Given the description of an element on the screen output the (x, y) to click on. 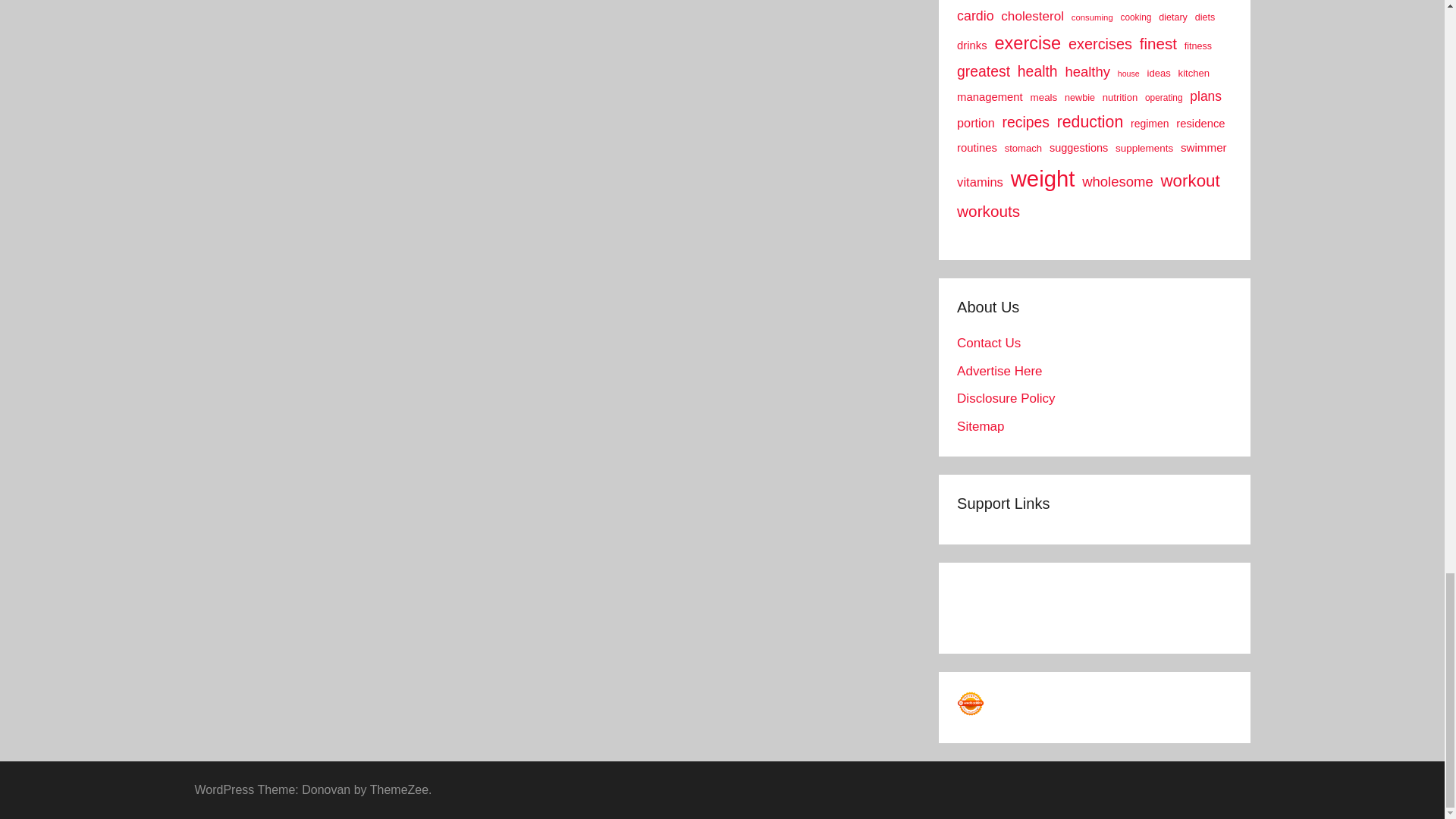
Seedbacklink (970, 703)
